Given the description of an element on the screen output the (x, y) to click on. 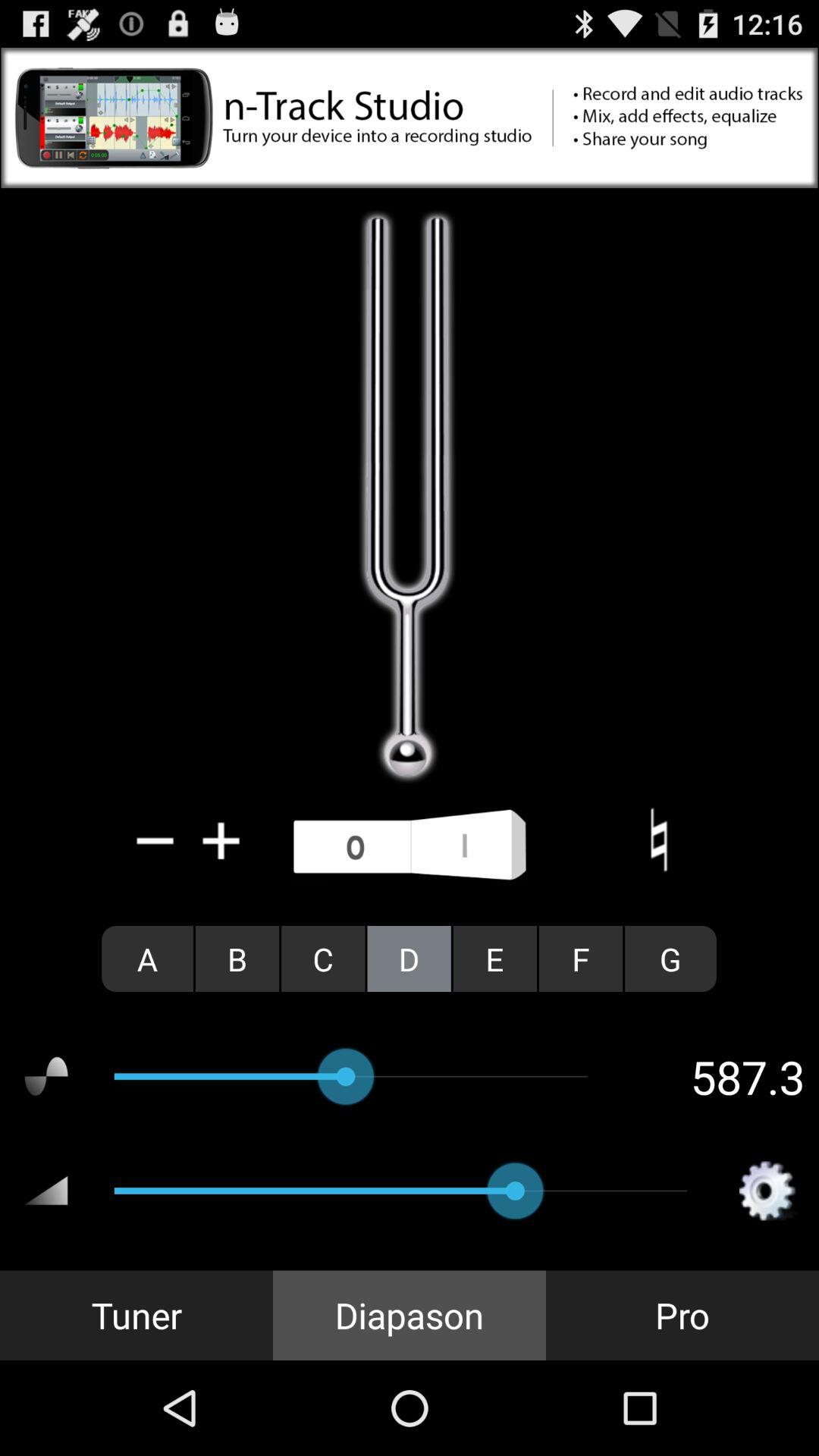
go to app in store (409, 117)
